Given the description of an element on the screen output the (x, y) to click on. 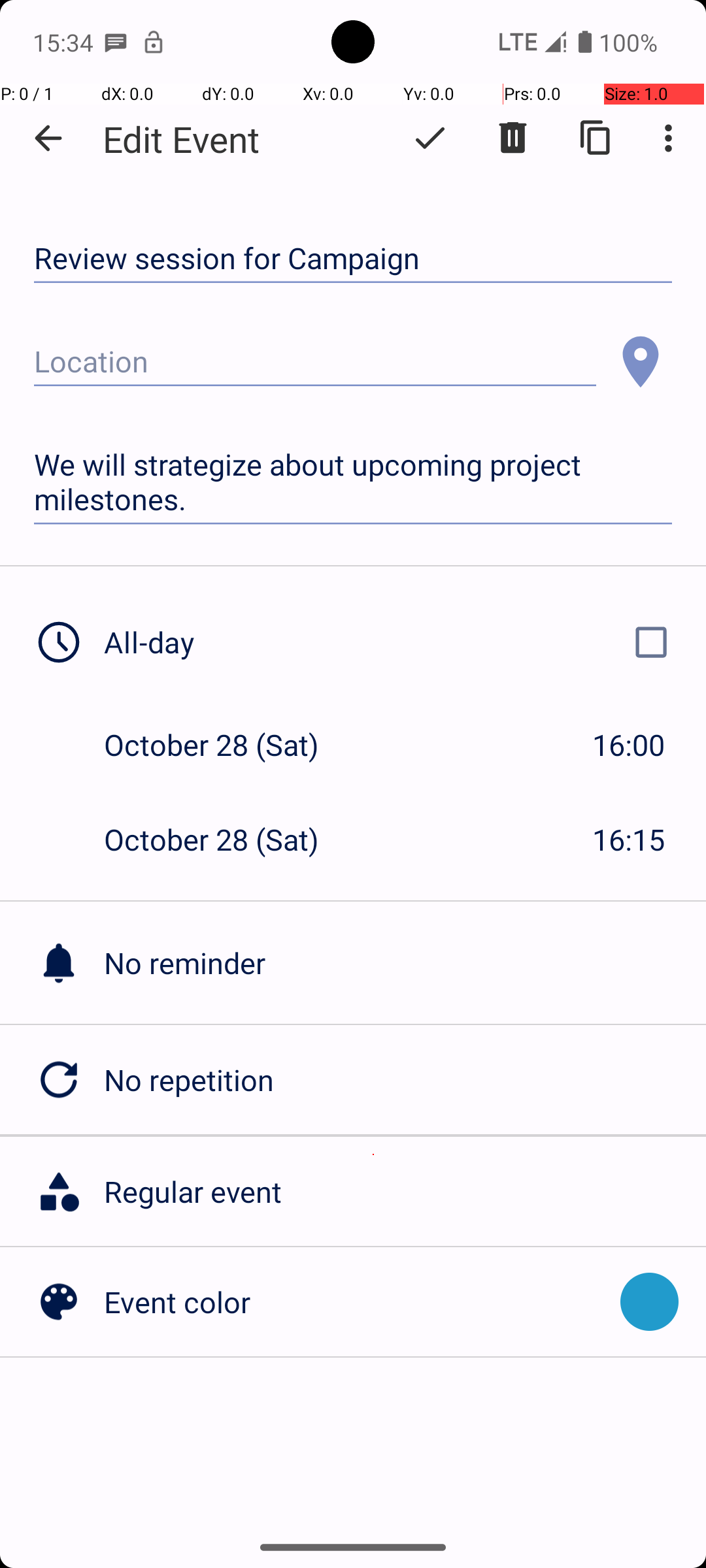
We will strategize about upcoming project milestones. Element type: android.widget.EditText (352, 482)
October 28 (Sat) Element type: android.widget.TextView (224, 744)
16:15 Element type: android.widget.TextView (628, 838)
